Given the description of an element on the screen output the (x, y) to click on. 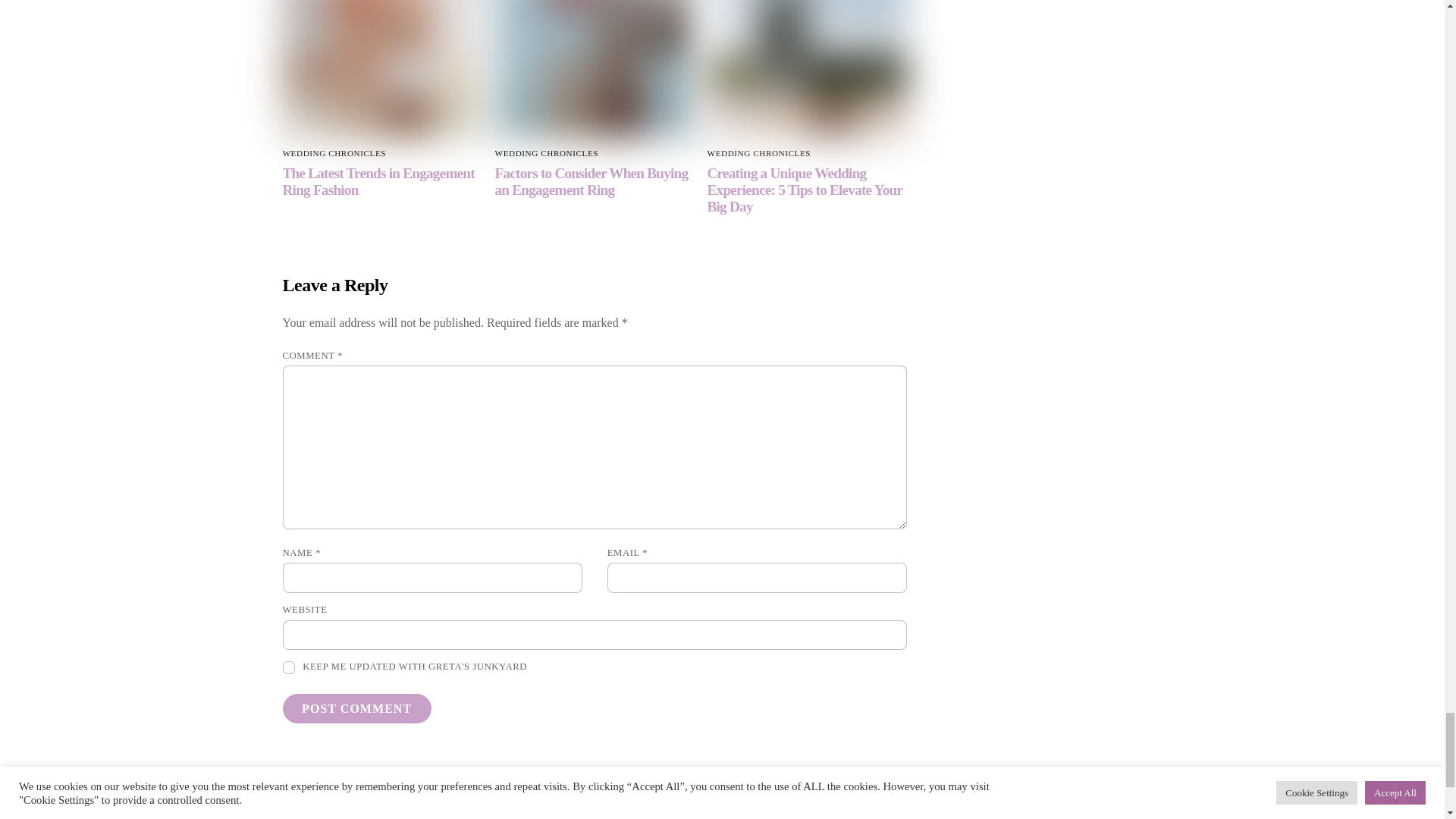
engagement ring fashion 2 (381, 599)
destination wedding 1 (807, 599)
